Given the description of an element on the screen output the (x, y) to click on. 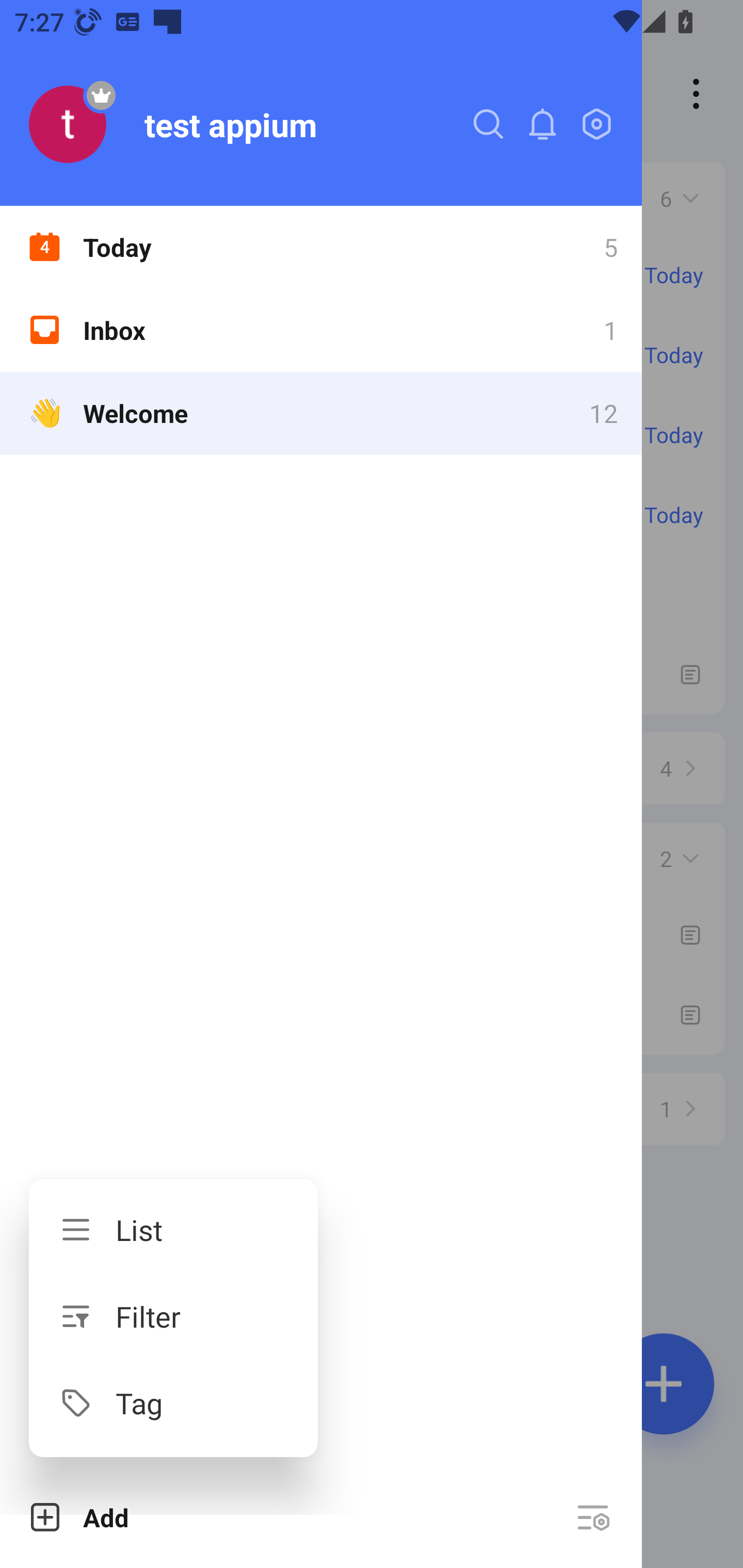
List (173, 1229)
Filter (173, 1316)
Tag (173, 1402)
